Given the description of an element on the screen output the (x, y) to click on. 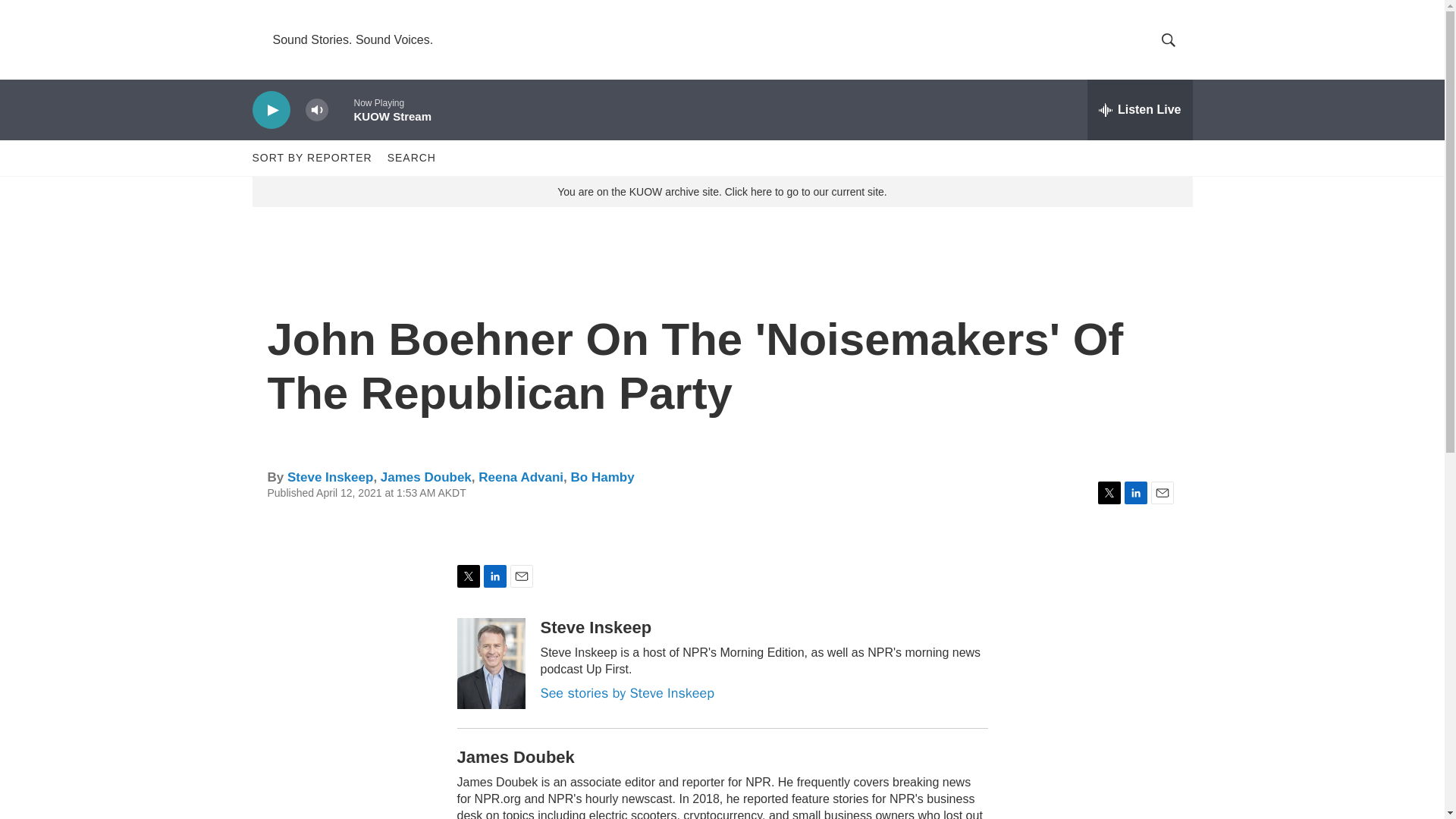
Email (520, 576)
Bo Hamby (602, 477)
LinkedIn (1135, 492)
Show Search (1168, 39)
Email (1162, 492)
Twitter (1109, 492)
Twitter (468, 576)
Listen Live (1139, 109)
SORT BY REPORTER (311, 158)
Reena Advani (521, 477)
